Given the description of an element on the screen output the (x, y) to click on. 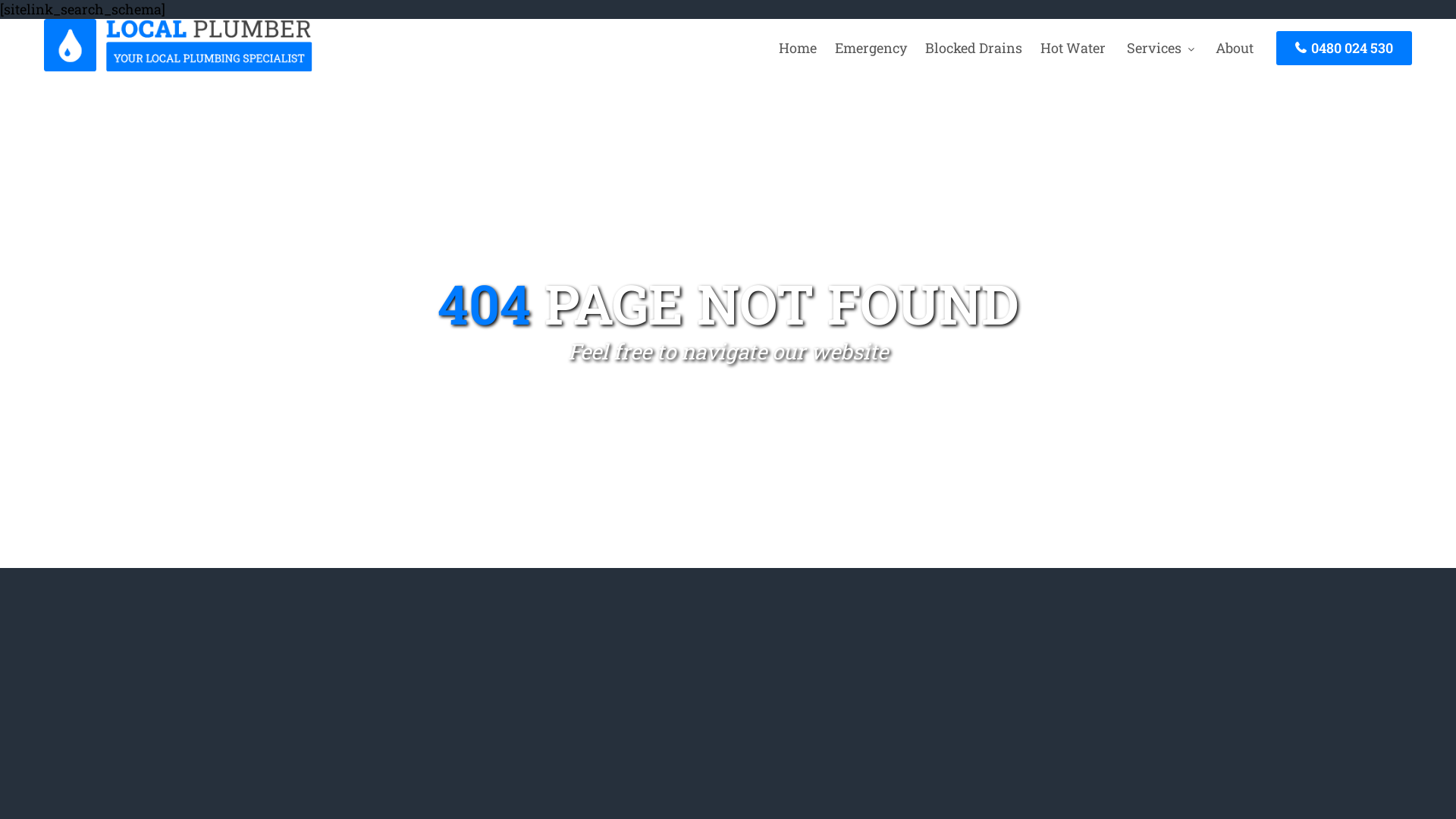
Plumbers Element type: hover (177, 66)
Blocked Drains Element type: text (973, 47)
0480 024 530 Element type: text (1344, 48)
About Element type: text (1234, 47)
Home Element type: text (797, 47)
Emergency Element type: text (870, 47)
Services Element type: text (1160, 47)
Hot Water Element type: text (1072, 47)
